Given the description of an element on the screen output the (x, y) to click on. 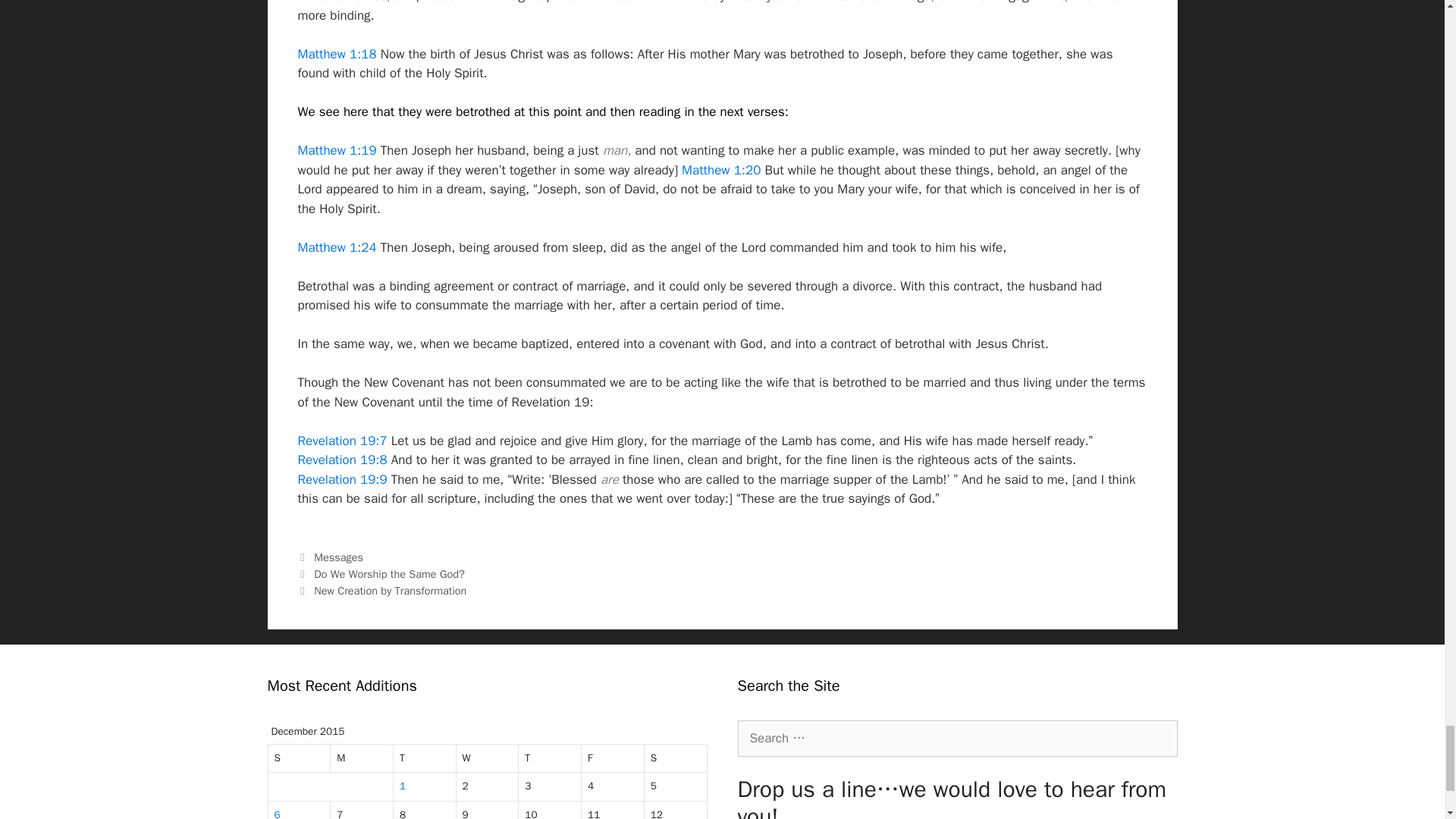
Tuesday (425, 758)
Next (381, 590)
Friday (612, 758)
Saturday (676, 758)
Monday (361, 758)
Thursday (549, 758)
Wednesday (488, 758)
Previous (380, 573)
Sunday (299, 758)
